Given the description of an element on the screen output the (x, y) to click on. 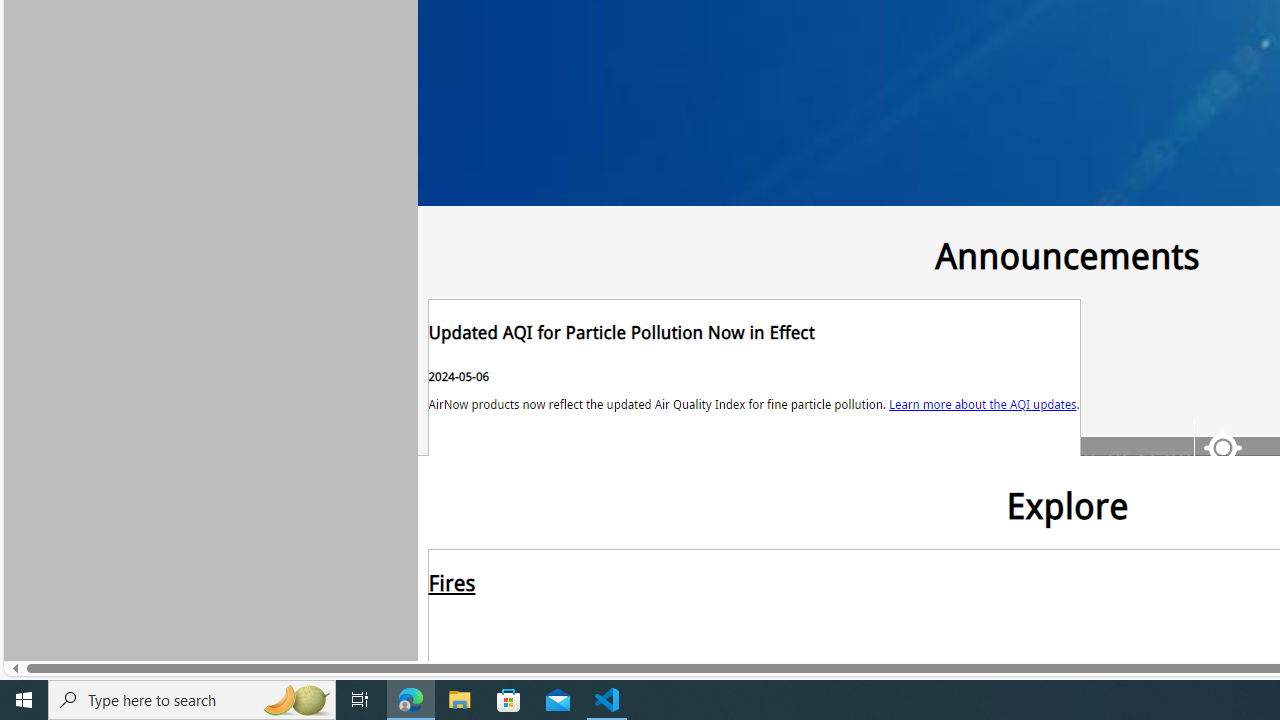
Learn more about the AQI updates (982, 403)
EPA (477, 254)
EPA (477, 249)
PARTNERS (587, 254)
https://www.airnow.gov/announcement/5494 (753, 377)
